Given the description of an element on the screen output the (x, y) to click on. 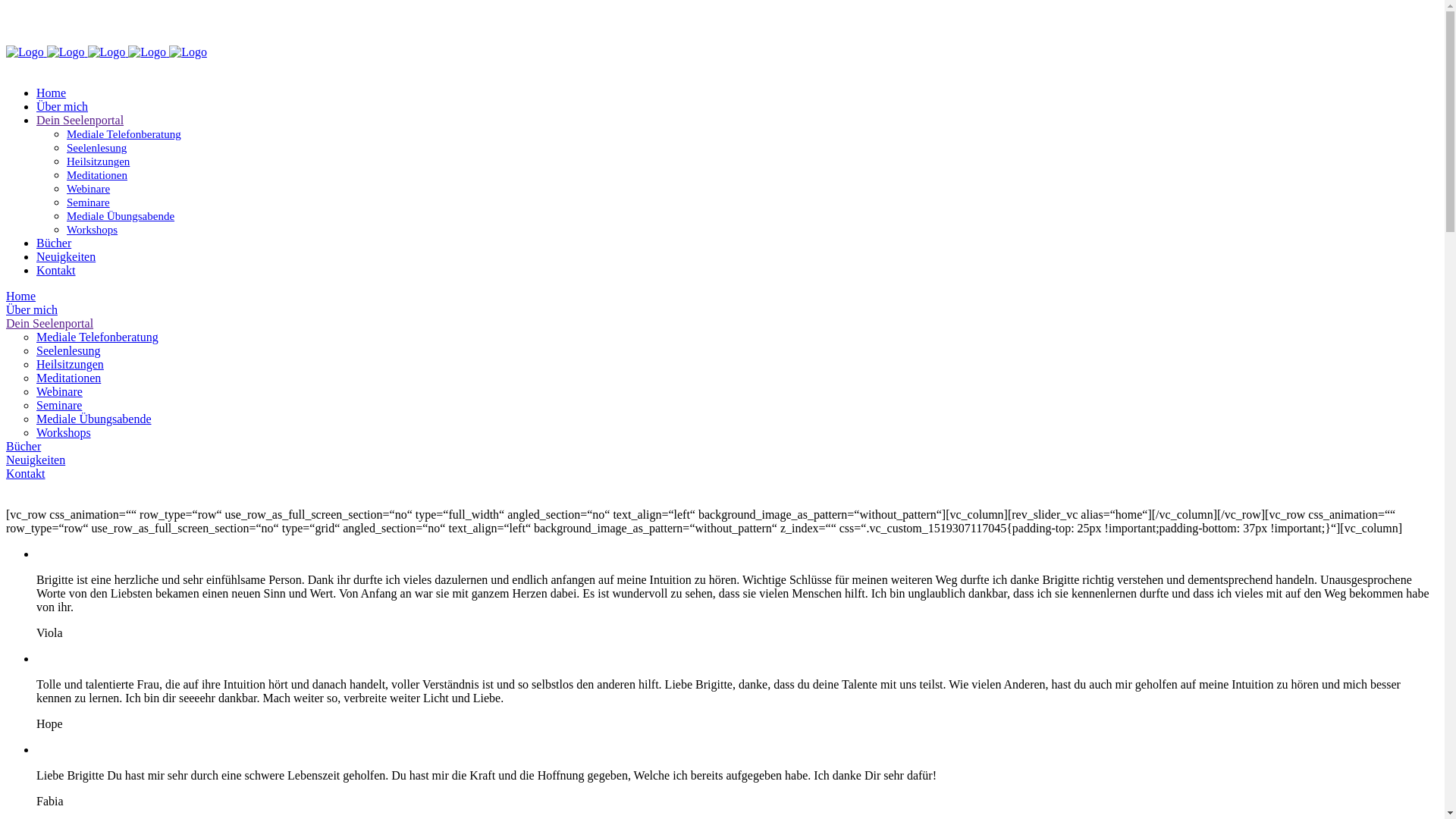
Mediale Telefonberatung Element type: text (97, 336)
Kontakt Element type: text (55, 269)
Dein Seelenportal Element type: text (79, 119)
Workshops Element type: text (91, 229)
Home Element type: text (20, 295)
Neuigkeiten Element type: text (35, 459)
Neuigkeiten Element type: text (65, 256)
Seelenlesung Element type: text (68, 350)
Meditationen Element type: text (68, 377)
Seelenlesung Element type: text (96, 147)
Meditationen Element type: text (96, 174)
Webinare Element type: text (87, 188)
Workshops Element type: text (63, 432)
Kontakt Element type: text (25, 473)
Home Element type: text (50, 92)
Mediale Telefonberatung Element type: text (123, 133)
Dein Seelenportal Element type: text (49, 322)
Seminare Element type: text (87, 202)
Heilsitzungen Element type: text (69, 363)
Webinare Element type: text (59, 391)
Seminare Element type: text (58, 404)
Heilsitzungen Element type: text (97, 161)
